Given the description of an element on the screen output the (x, y) to click on. 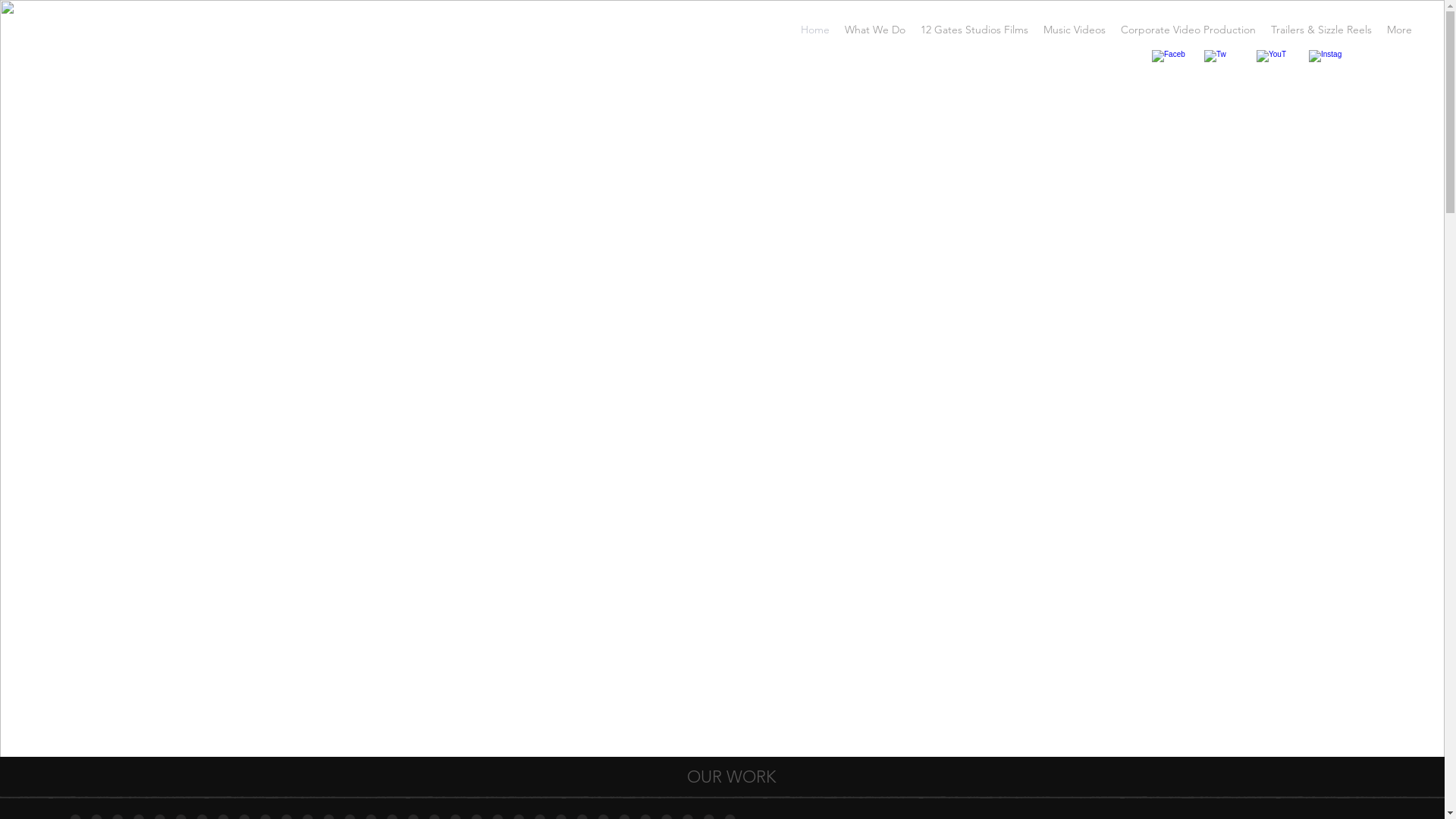
What We Do Element type: text (875, 29)
Music Videos Element type: text (1074, 29)
Trailers & Sizzle Reels Element type: text (1321, 29)
Corporate Video Production Element type: text (1188, 29)
Home Element type: text (815, 29)
